Given the description of an element on the screen output the (x, y) to click on. 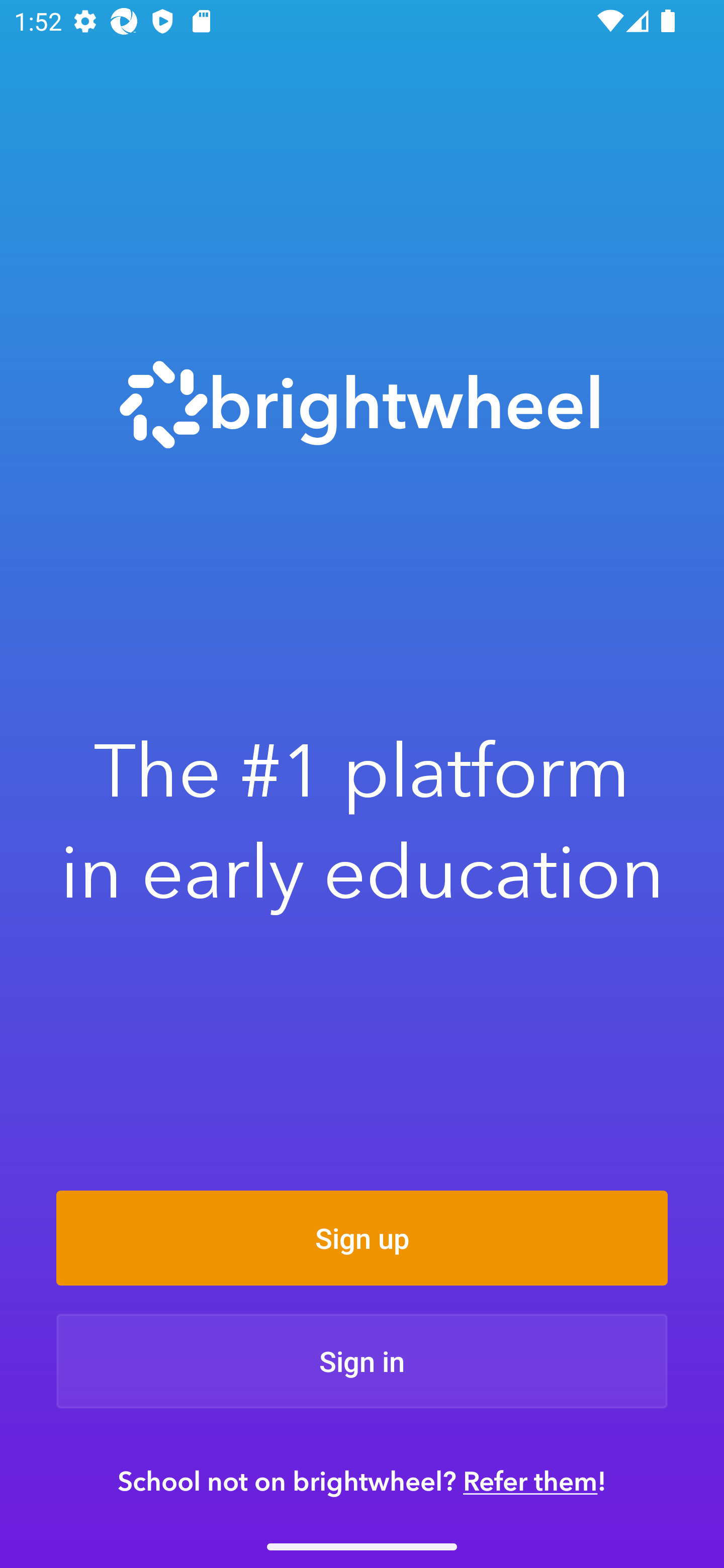
Sign up (361, 1237)
Sign in (361, 1360)
School not on brightwheel? Refer them! (361, 1480)
